Given the description of an element on the screen output the (x, y) to click on. 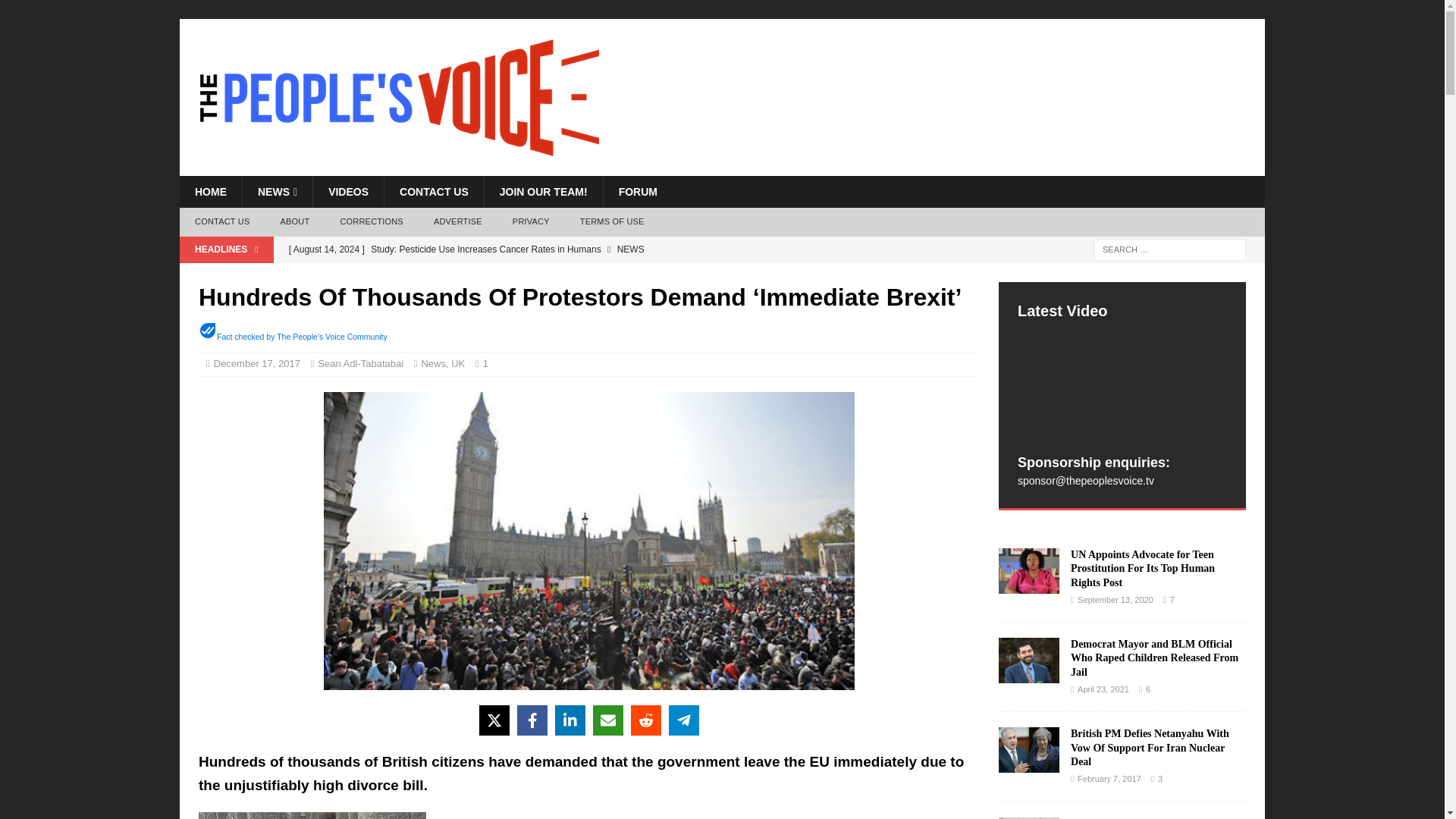
TERMS OF USE (611, 222)
CONTACT US (221, 222)
UK (457, 363)
VIDEOS (348, 192)
NEWS (277, 192)
Fact checked by The People's Voice Community (301, 336)
HOME (210, 192)
ABOUT (294, 222)
